Given the description of an element on the screen output the (x, y) to click on. 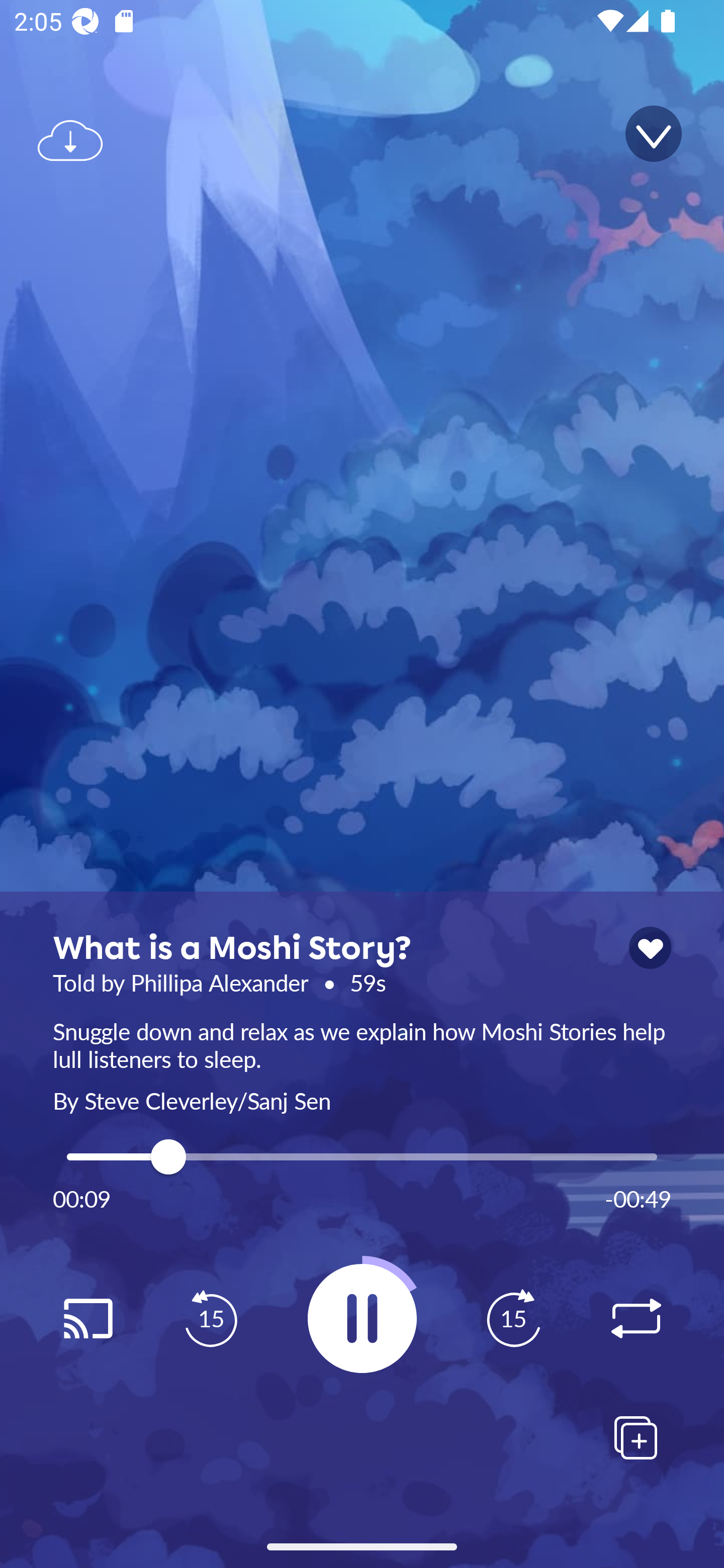
lock icon (650, 947)
0.16842373 Pause (361, 1317)
Replay (87, 1318)
Replay 15 (210, 1318)
Replay 15 (513, 1318)
Replay (635, 1318)
Add To Playlists (635, 1437)
